Given the description of an element on the screen output the (x, y) to click on. 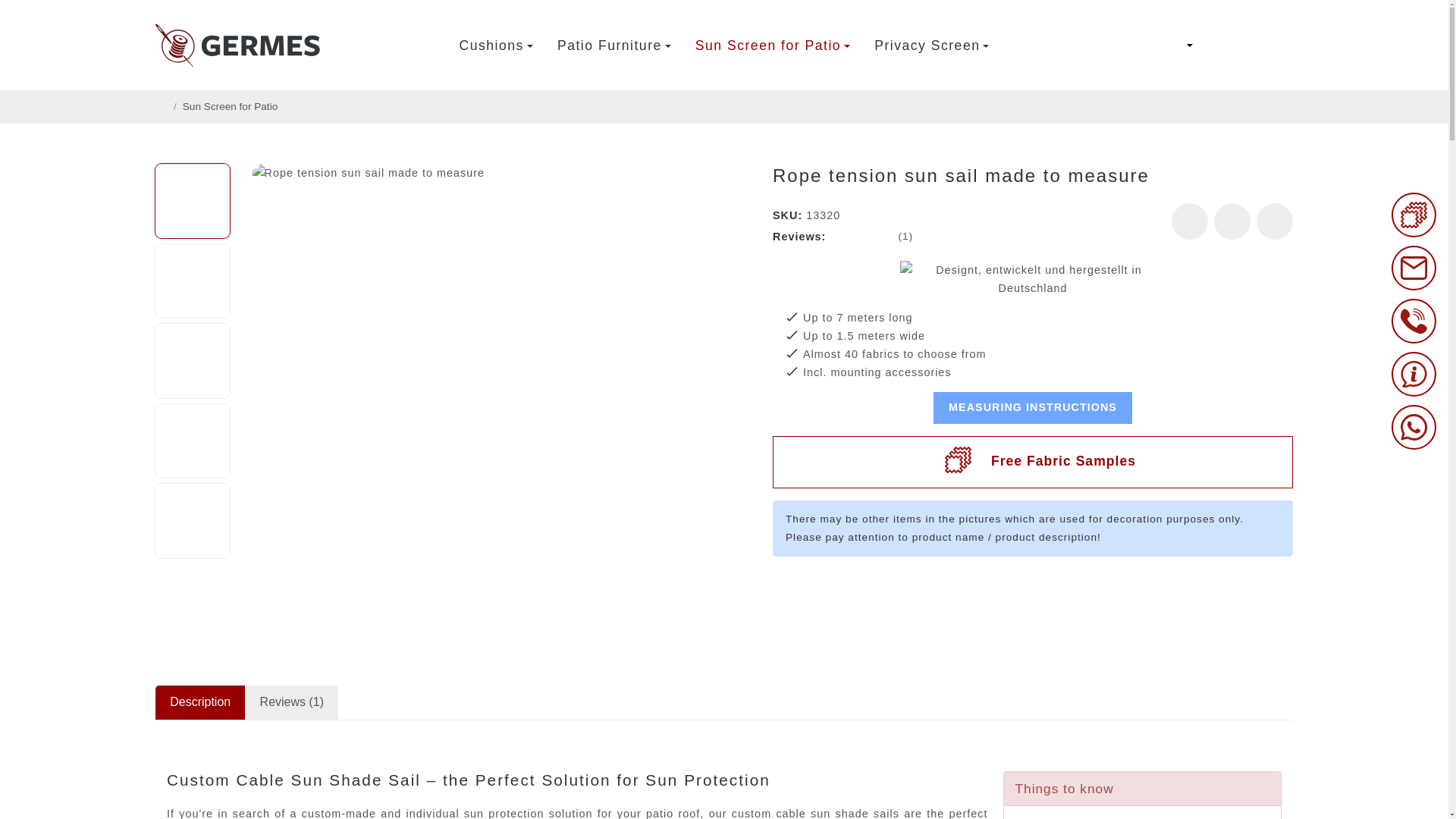
GERMES.COM (240, 44)
Cushions (495, 44)
Cushions (495, 44)
